Given the description of an element on the screen output the (x, y) to click on. 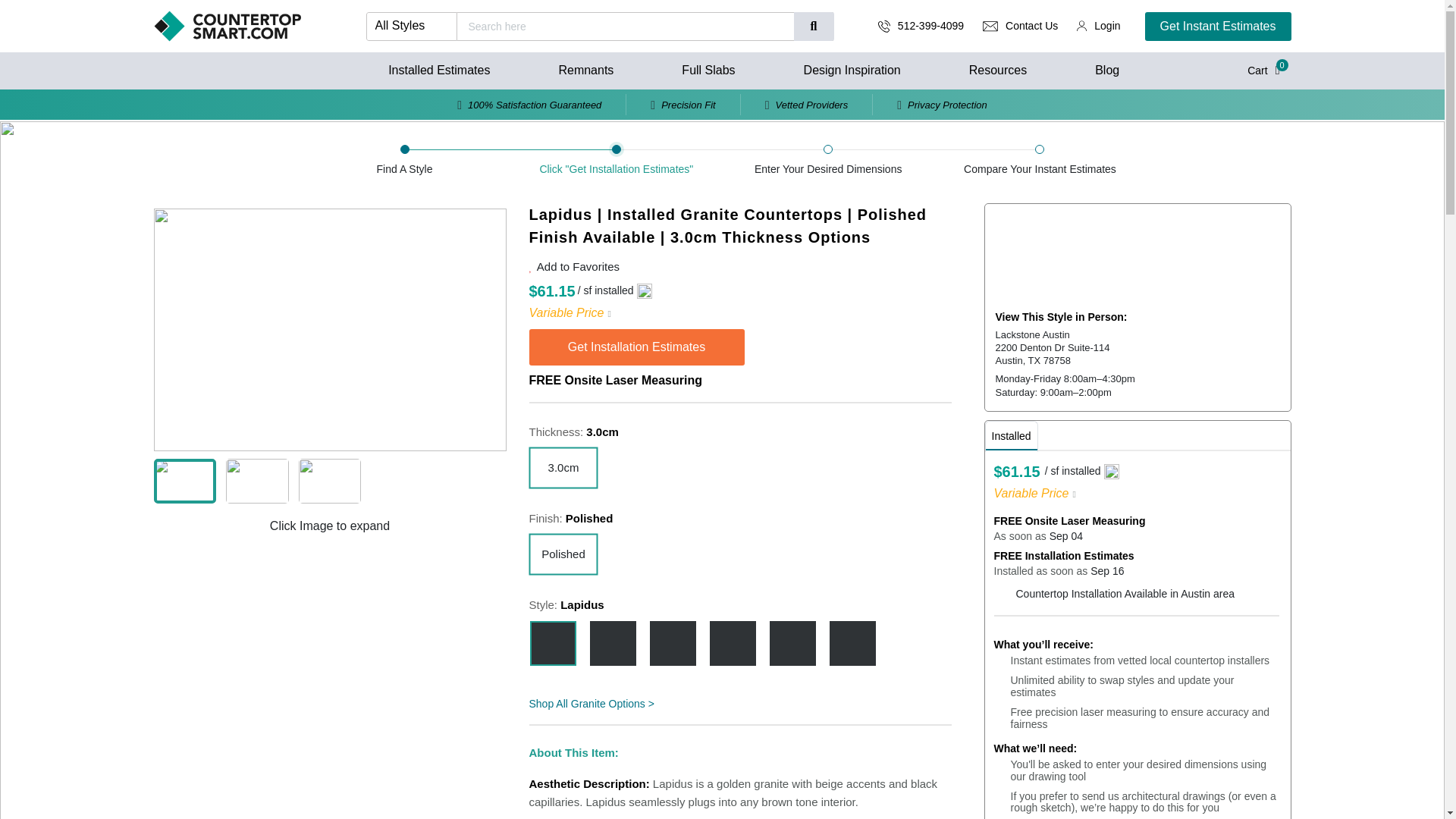
White Spring (791, 642)
Siena Beige (852, 642)
Blog (1106, 69)
Installed Estimates (438, 69)
Fortaleza (612, 642)
Contact Us (1032, 25)
Design Inspiration (852, 69)
Lapidus (552, 642)
Crema Atlantico (732, 642)
Full Slabs (708, 69)
